Given the description of an element on the screen output the (x, y) to click on. 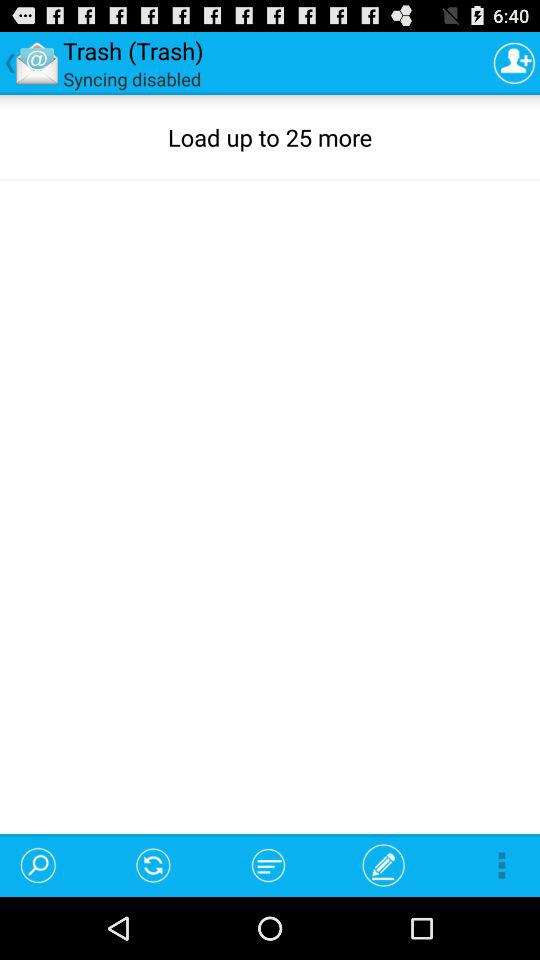
press item below the load up to app (153, 864)
